Given the description of an element on the screen output the (x, y) to click on. 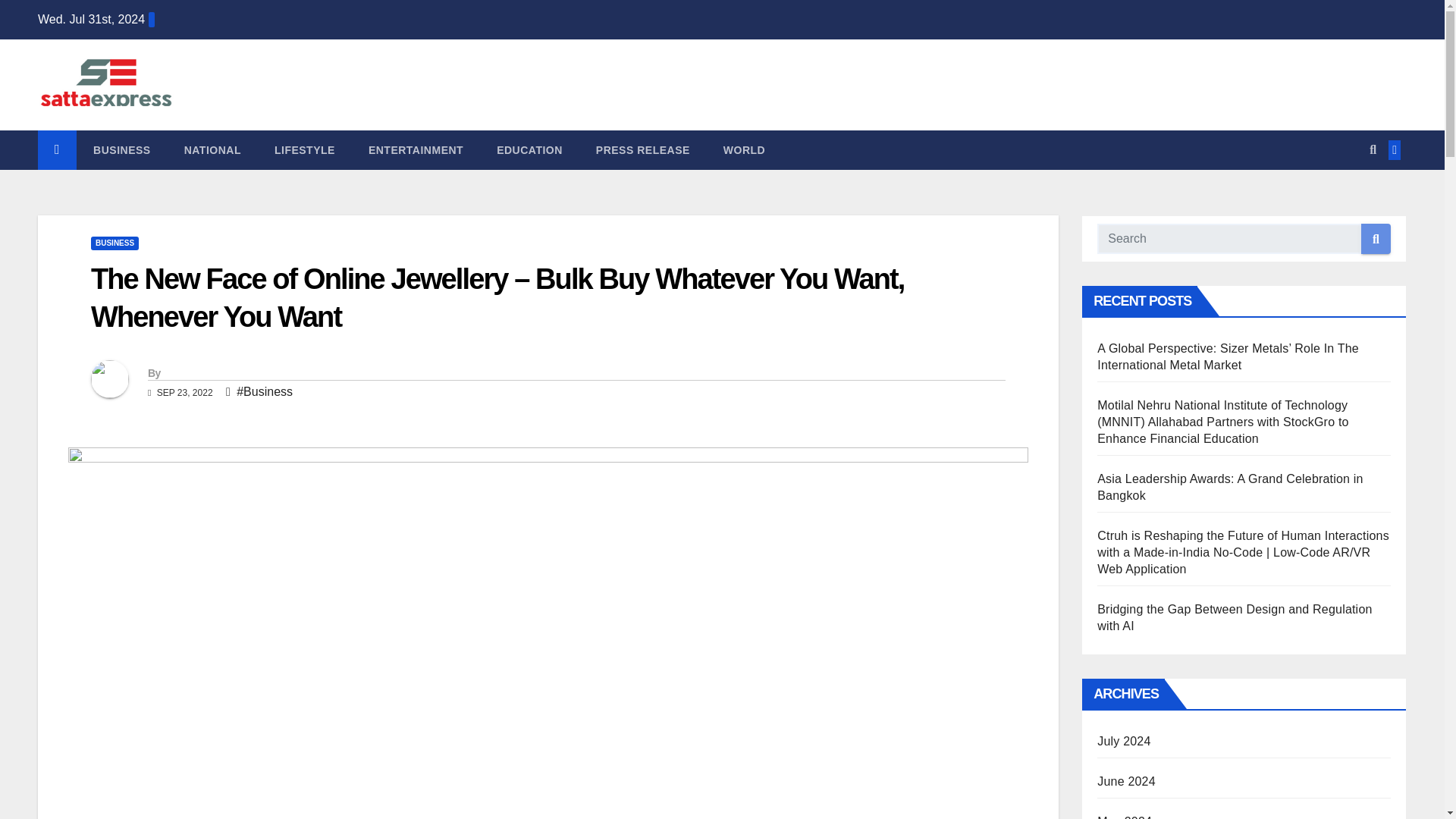
EDUCATION (529, 149)
Press Release (642, 149)
BUSINESS (122, 149)
PRESS RELEASE (642, 149)
LIFESTYLE (304, 149)
ENTERTAINMENT (416, 149)
Entertainment (416, 149)
NATIONAL (212, 149)
World (743, 149)
Lifestyle (304, 149)
BUSINESS (114, 243)
Education (529, 149)
WORLD (743, 149)
Business (122, 149)
National (212, 149)
